Given the description of an element on the screen output the (x, y) to click on. 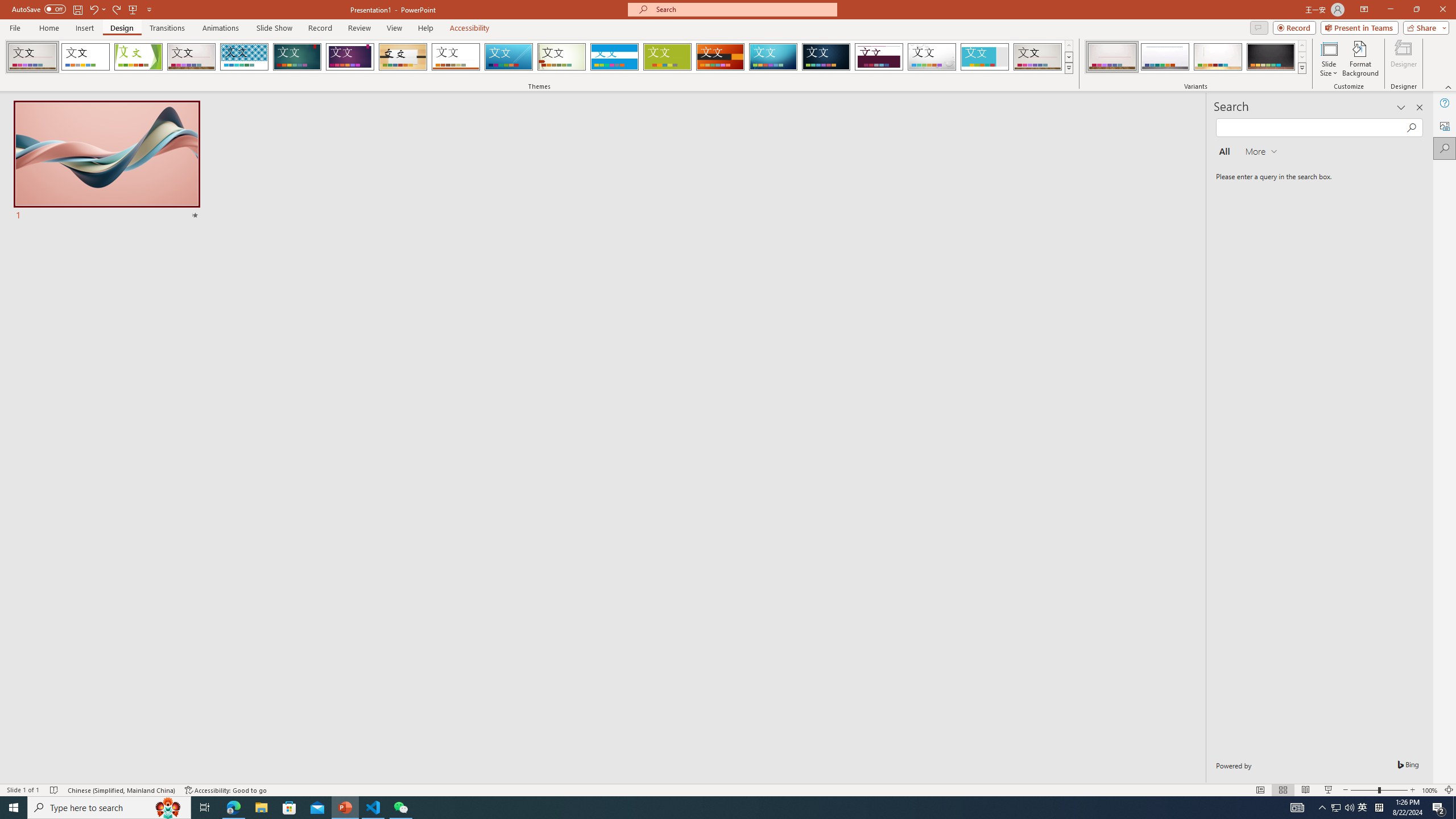
Format Background (1360, 58)
Ion Boardroom (350, 56)
